Given the description of an element on the screen output the (x, y) to click on. 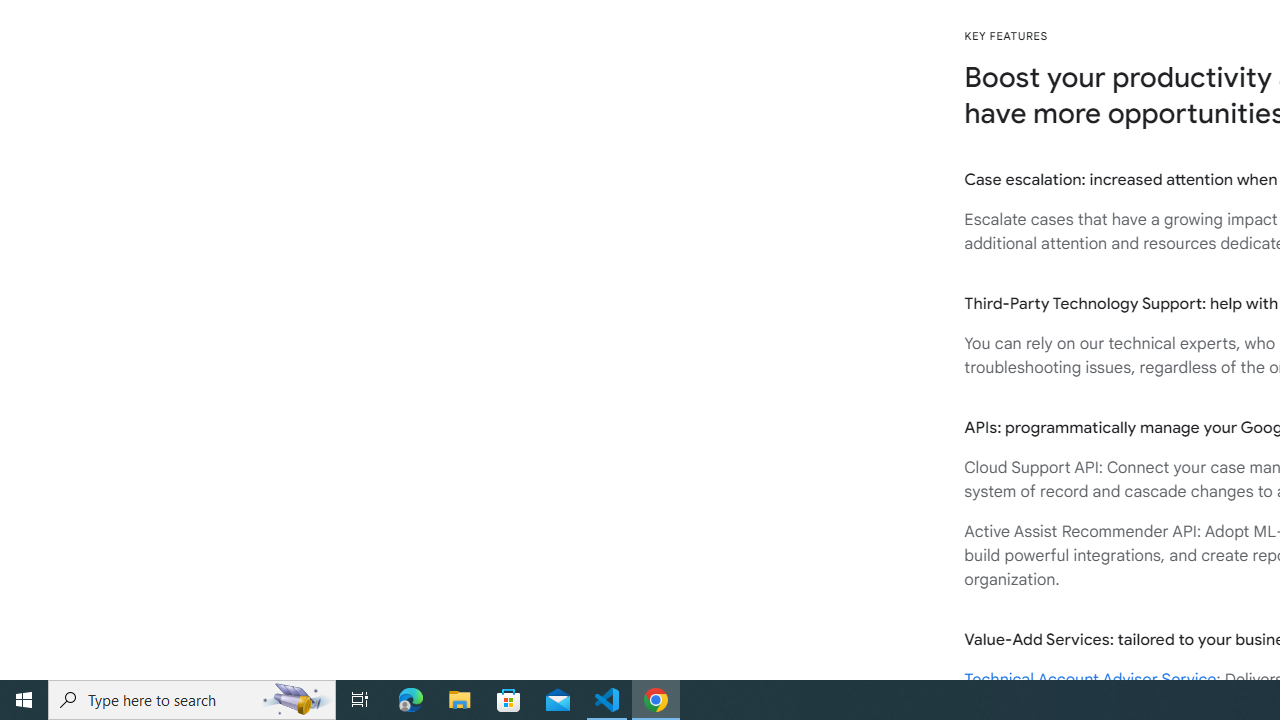
Technical Account Advisor Service (1090, 679)
